Given the description of an element on the screen output the (x, y) to click on. 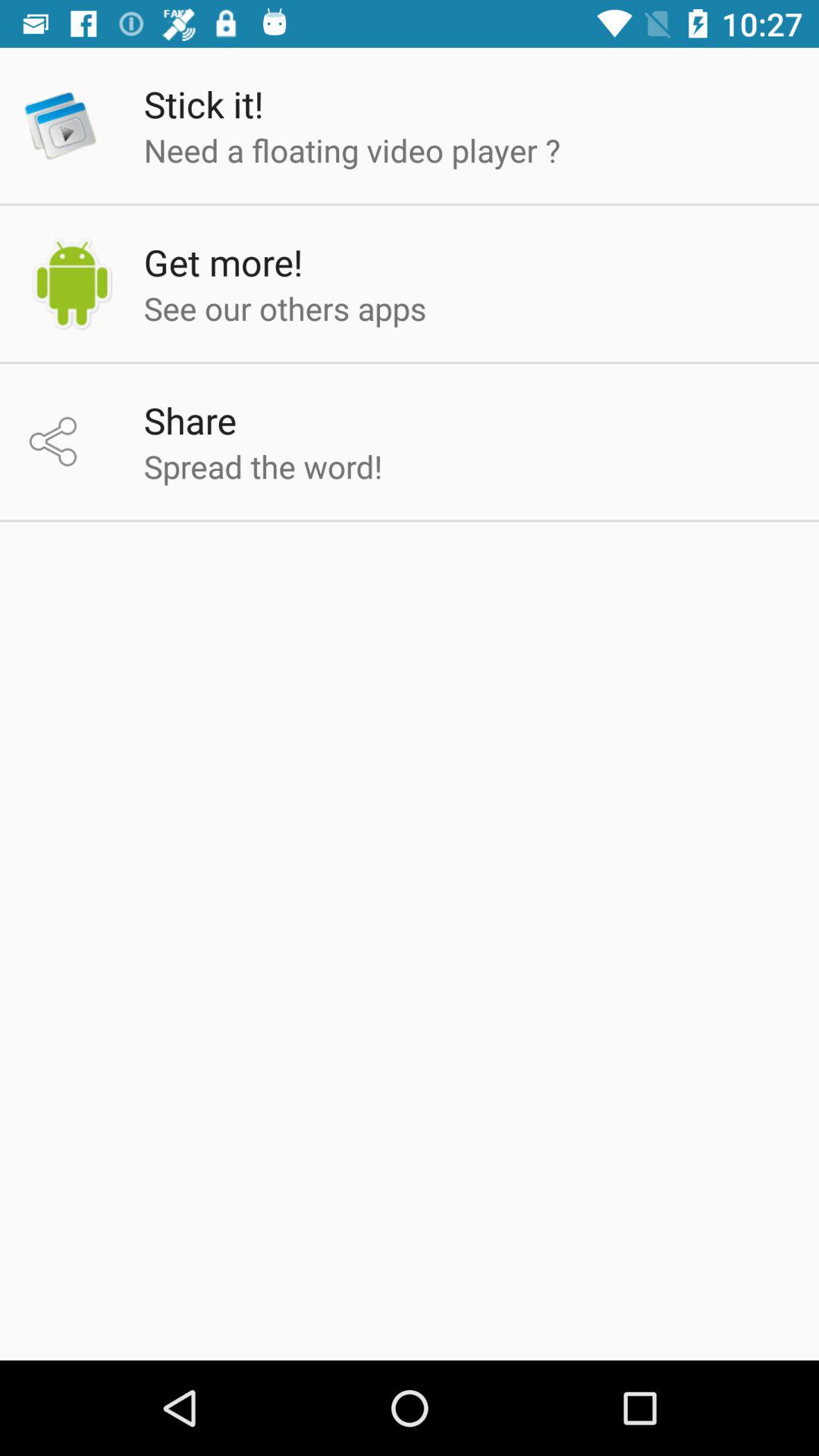
jump to the see our others icon (284, 307)
